Given the description of an element on the screen output the (x, y) to click on. 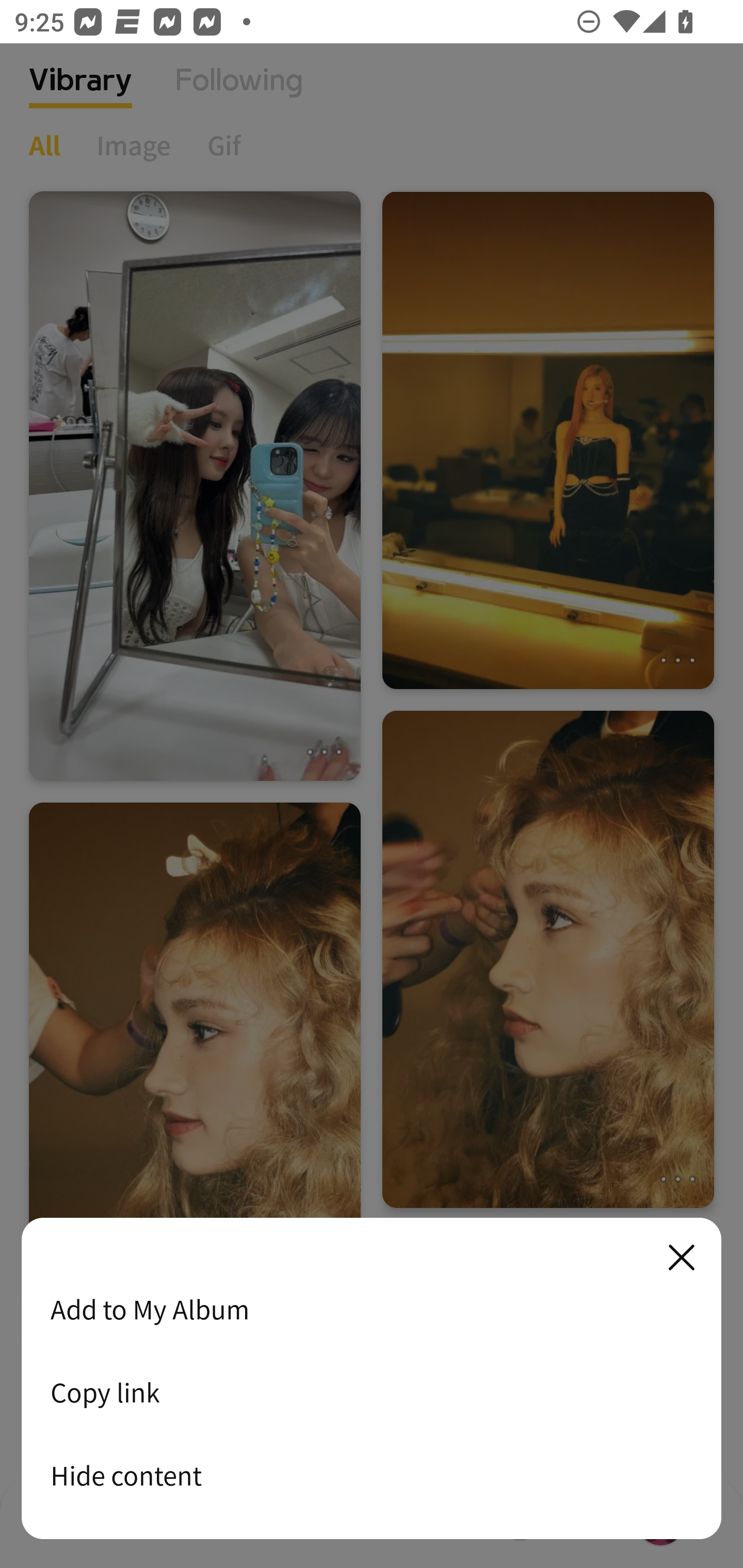
Add to My Album Copy link Hide content (371, 1378)
Add to My Album (371, 1308)
Copy link (371, 1391)
Hide content (371, 1474)
